Given the description of an element on the screen output the (x, y) to click on. 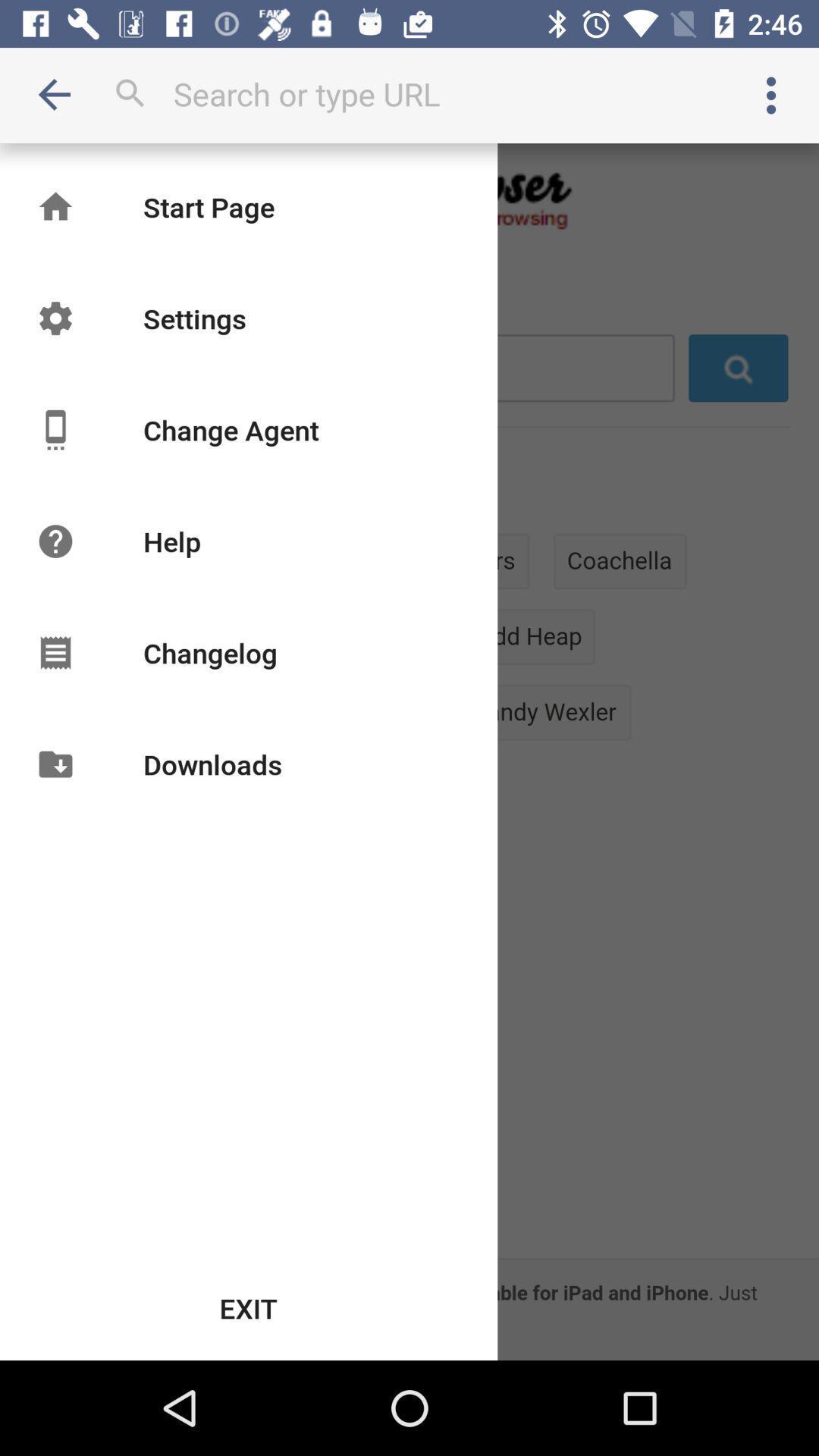
more information (771, 95)
